Given the description of an element on the screen output the (x, y) to click on. 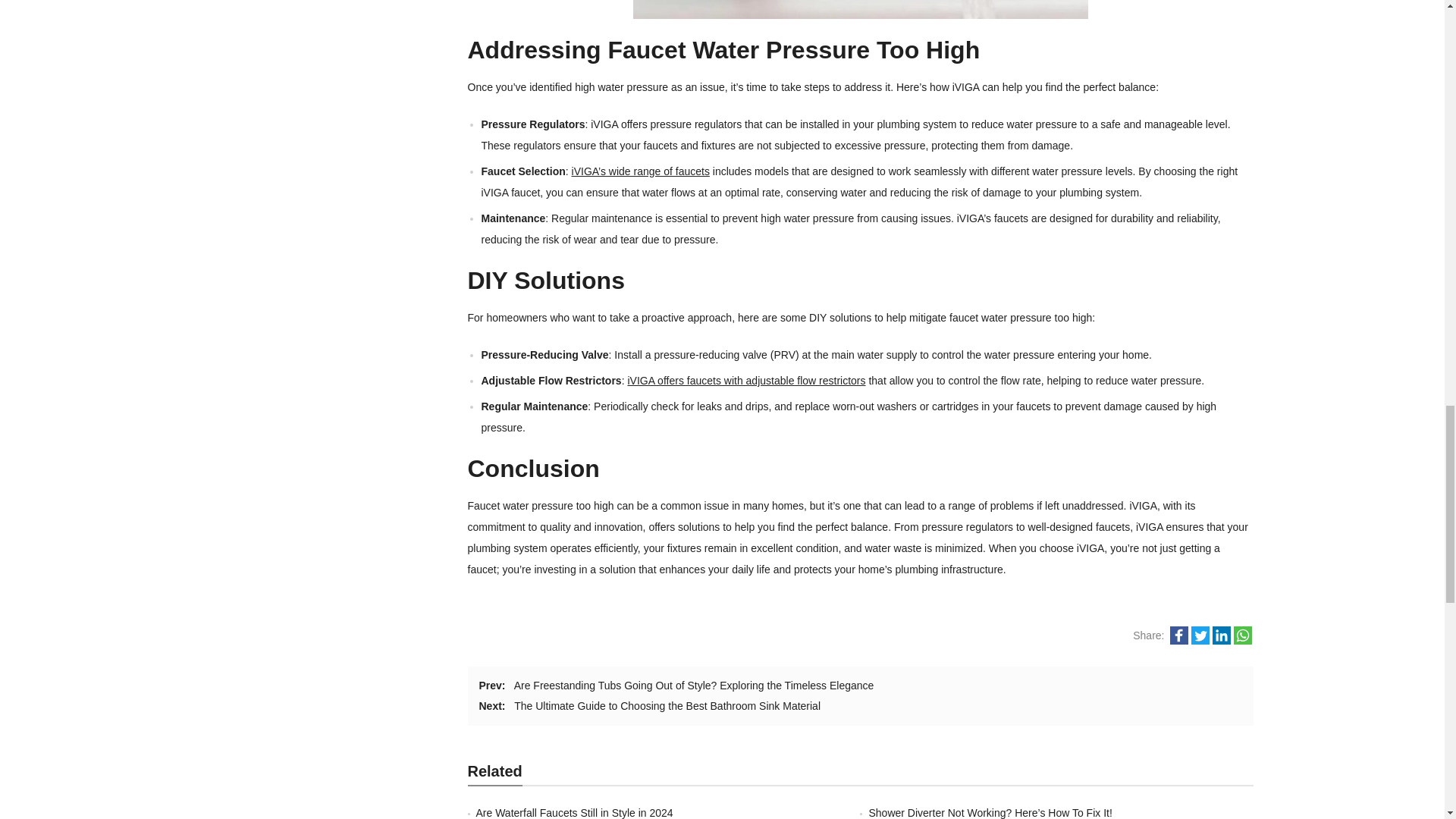
WhatsApp (1241, 635)
Facebook (1178, 635)
Share on LinkedIn (1220, 640)
Twitter (1199, 640)
Are Waterfall Faucets Still in Style in 2024 (574, 812)
Twitter (1199, 635)
Facebook (1178, 640)
LinkedIn (1220, 640)
LinkedIn (1220, 635)
Share on Facebook (1178, 640)
iVIGA offers faucets with adjustable flow restrictors (745, 380)
WhatsApp (1241, 640)
Share on Twitter (1199, 640)
Share on WhatsApp (1241, 640)
